Given the description of an element on the screen output the (x, y) to click on. 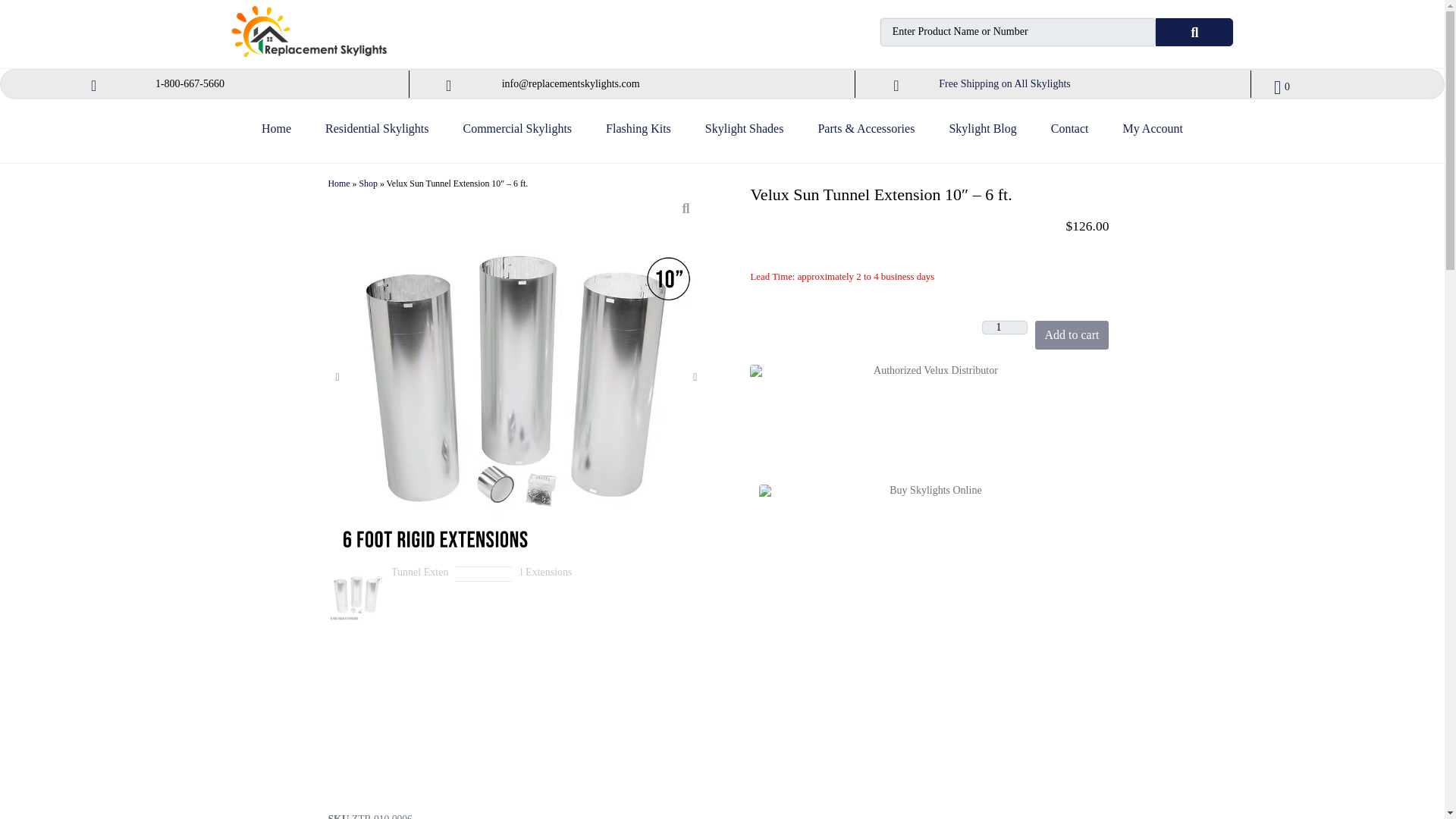
Velux Rigid 6 Foot Extension Tube (419, 594)
Velux Sun Tunnel Extensions ZTR 010 0006 (355, 594)
Velux Rigid Sun Tunnel Extension Tube (547, 594)
Velux ZTR Rigid Extension for Sun Tunnels (485, 594)
1-800-667-5660 (189, 83)
Residential Skylights (376, 135)
1 (1003, 327)
Home (276, 135)
Commercial Skylights (517, 135)
